Given the description of an element on the screen output the (x, y) to click on. 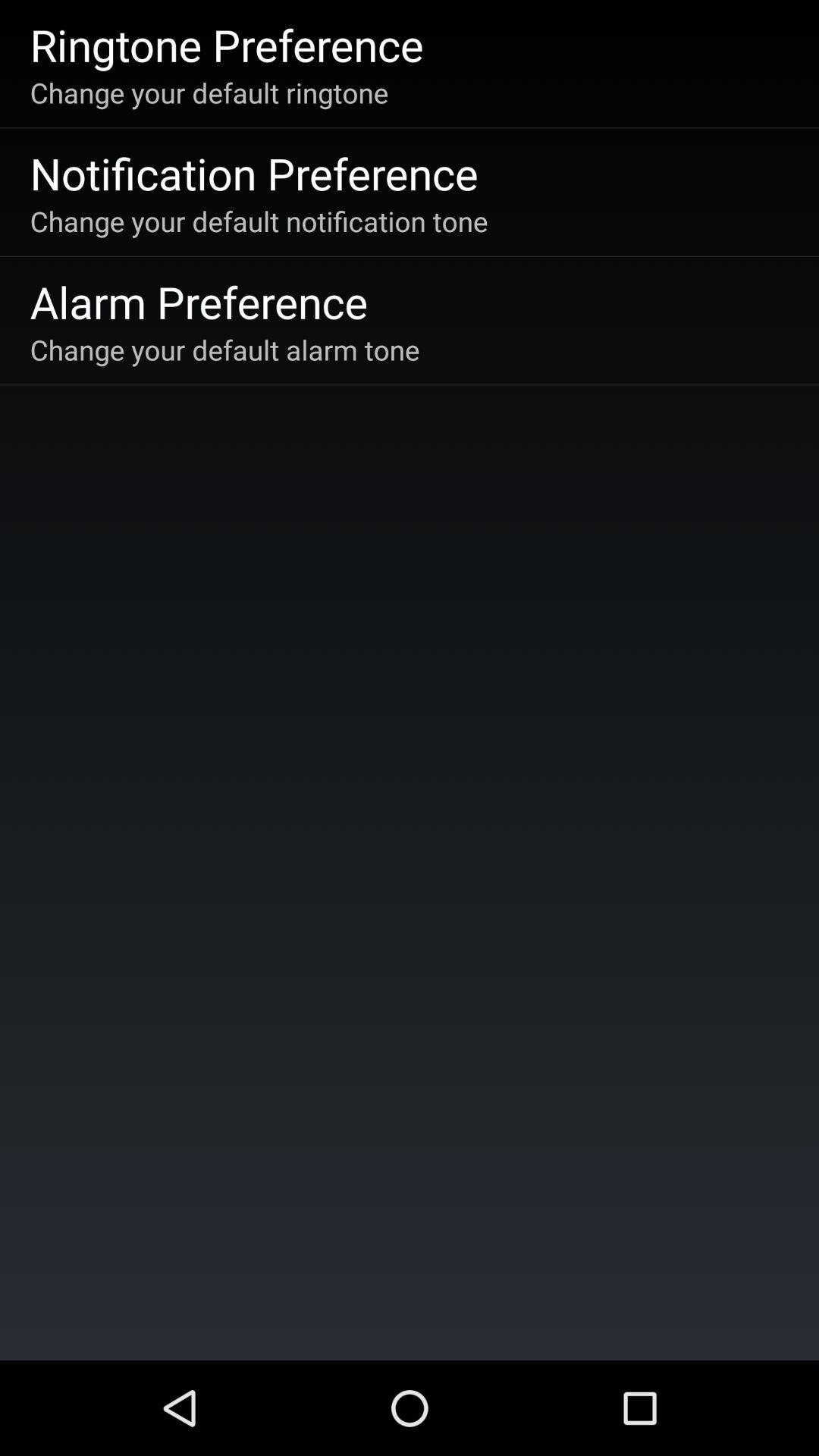
select icon above the change your default icon (198, 301)
